Given the description of an element on the screen output the (x, y) to click on. 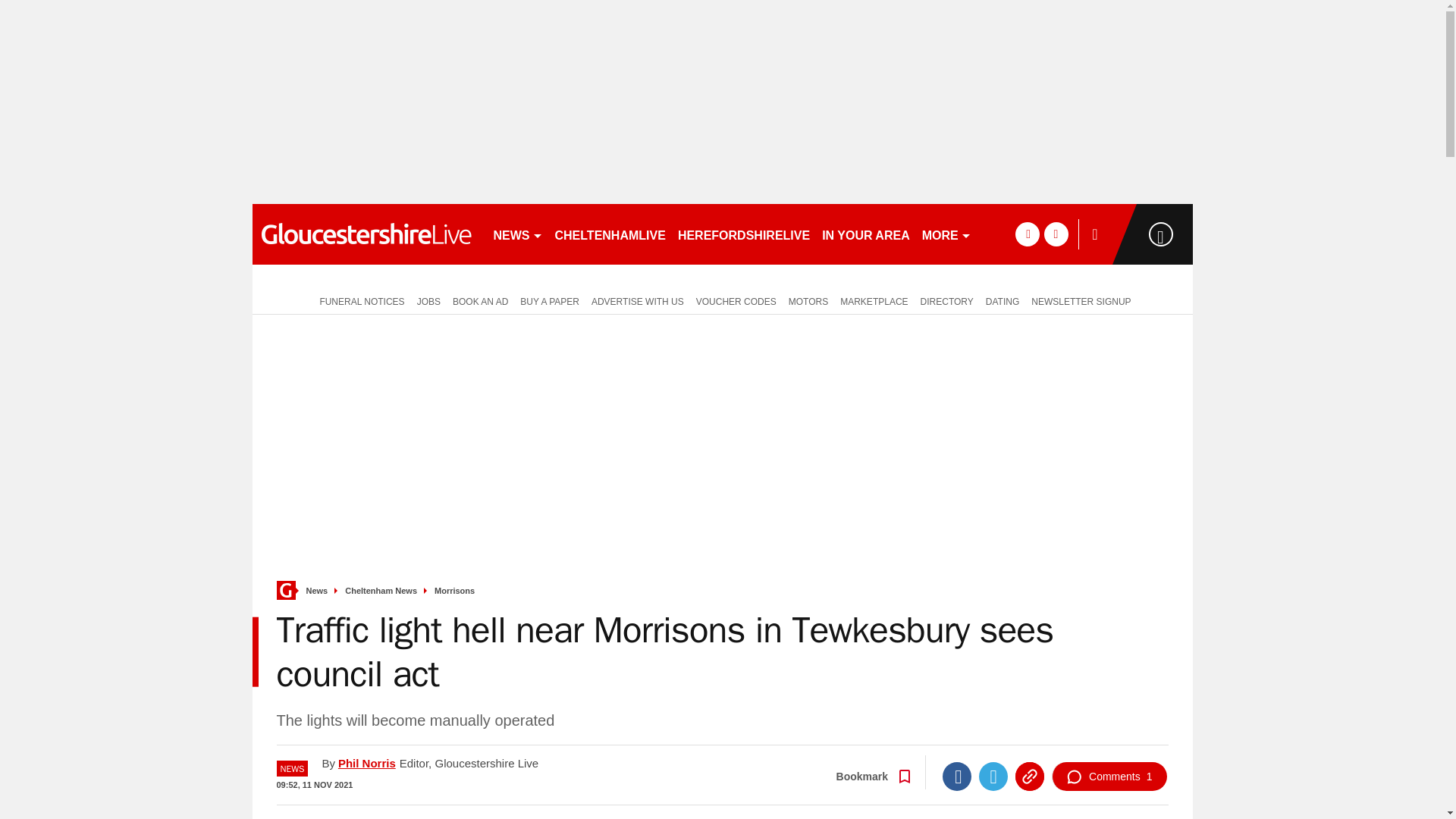
Twitter (992, 776)
NEWS (517, 233)
CHELTENHAMLIVE (609, 233)
MORE (945, 233)
IN YOUR AREA (865, 233)
gloucestershirelive (365, 233)
Facebook (956, 776)
facebook (1026, 233)
HEREFORDSHIRELIVE (743, 233)
twitter (1055, 233)
